Given the description of an element on the screen output the (x, y) to click on. 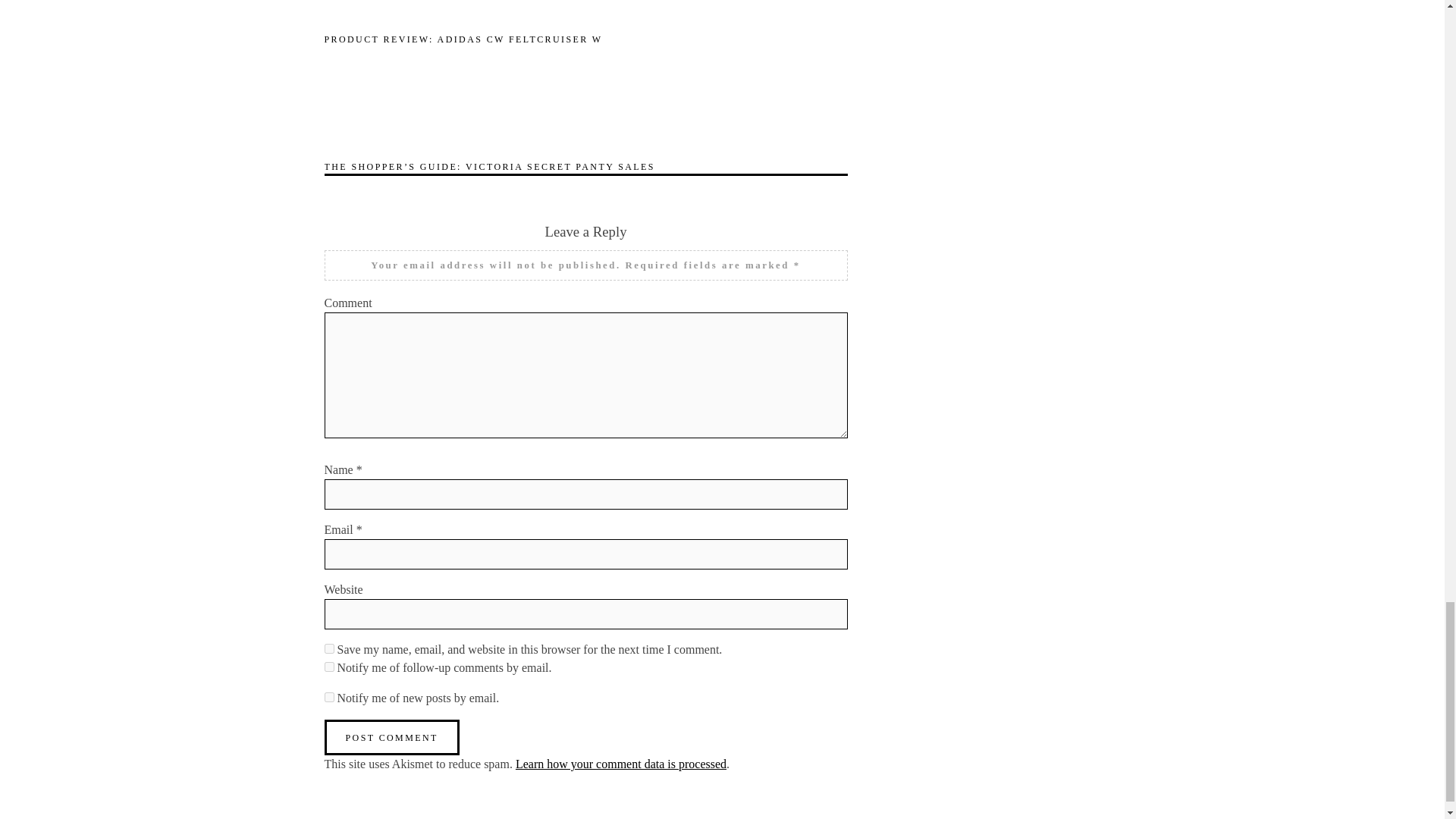
subscribe (329, 666)
subscribe (329, 696)
yes (329, 648)
Post Comment (392, 737)
